Given the description of an element on the screen output the (x, y) to click on. 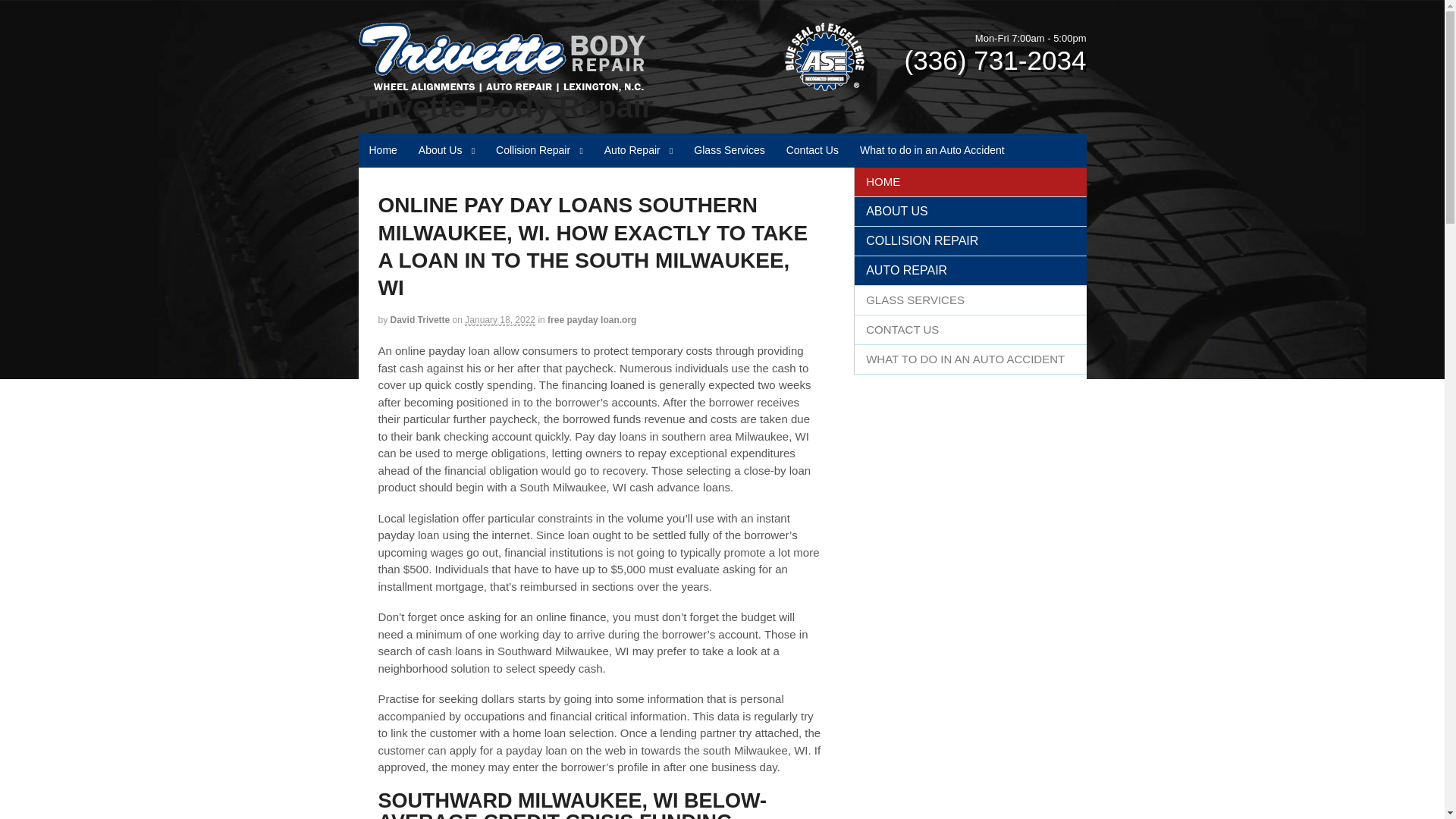
About Us (445, 150)
Auto Repair (639, 150)
HOME (970, 182)
Posts by David Trivette (419, 319)
Contact Us (812, 150)
David Trivette (419, 319)
Mon-Fri 7:00am - 5:00pm (1030, 38)
Glass Services (728, 150)
2022-01-18T16:45:50-0500 (499, 319)
Collision Repair (539, 150)
